Given the description of an element on the screen output the (x, y) to click on. 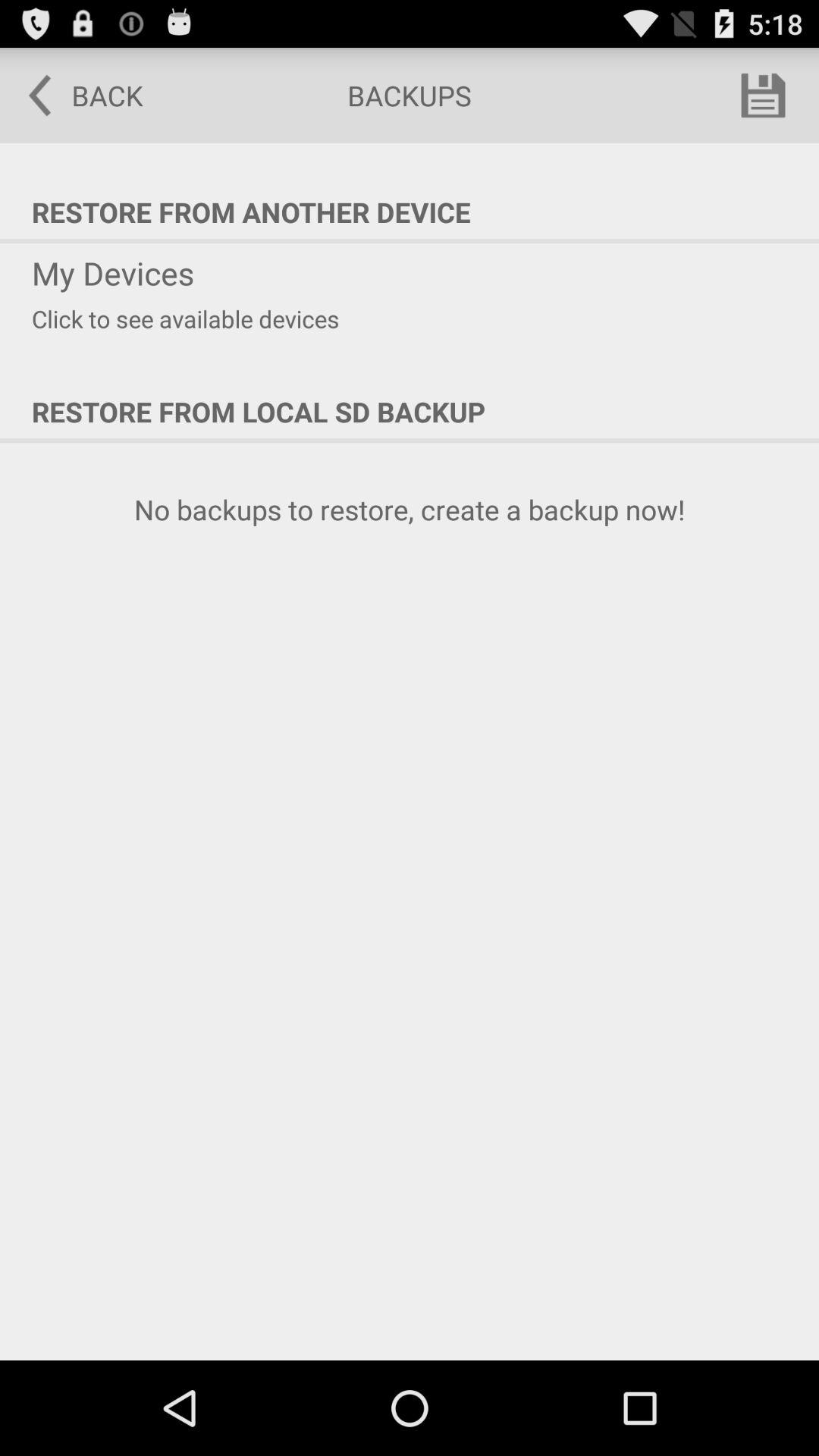
tap back at the top left corner (75, 95)
